Given the description of an element on the screen output the (x, y) to click on. 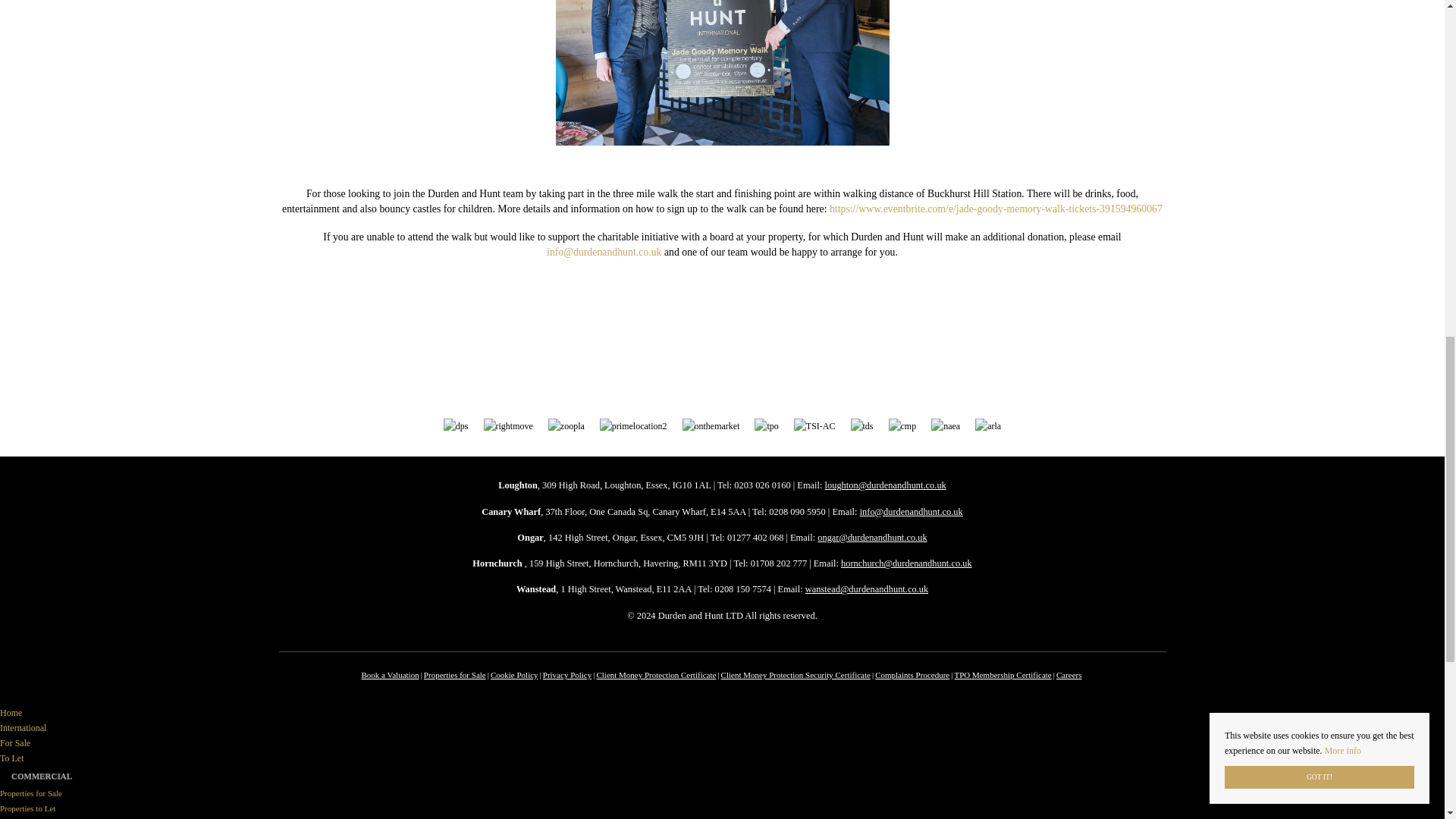
Book a Valuation (390, 674)
